Given the description of an element on the screen output the (x, y) to click on. 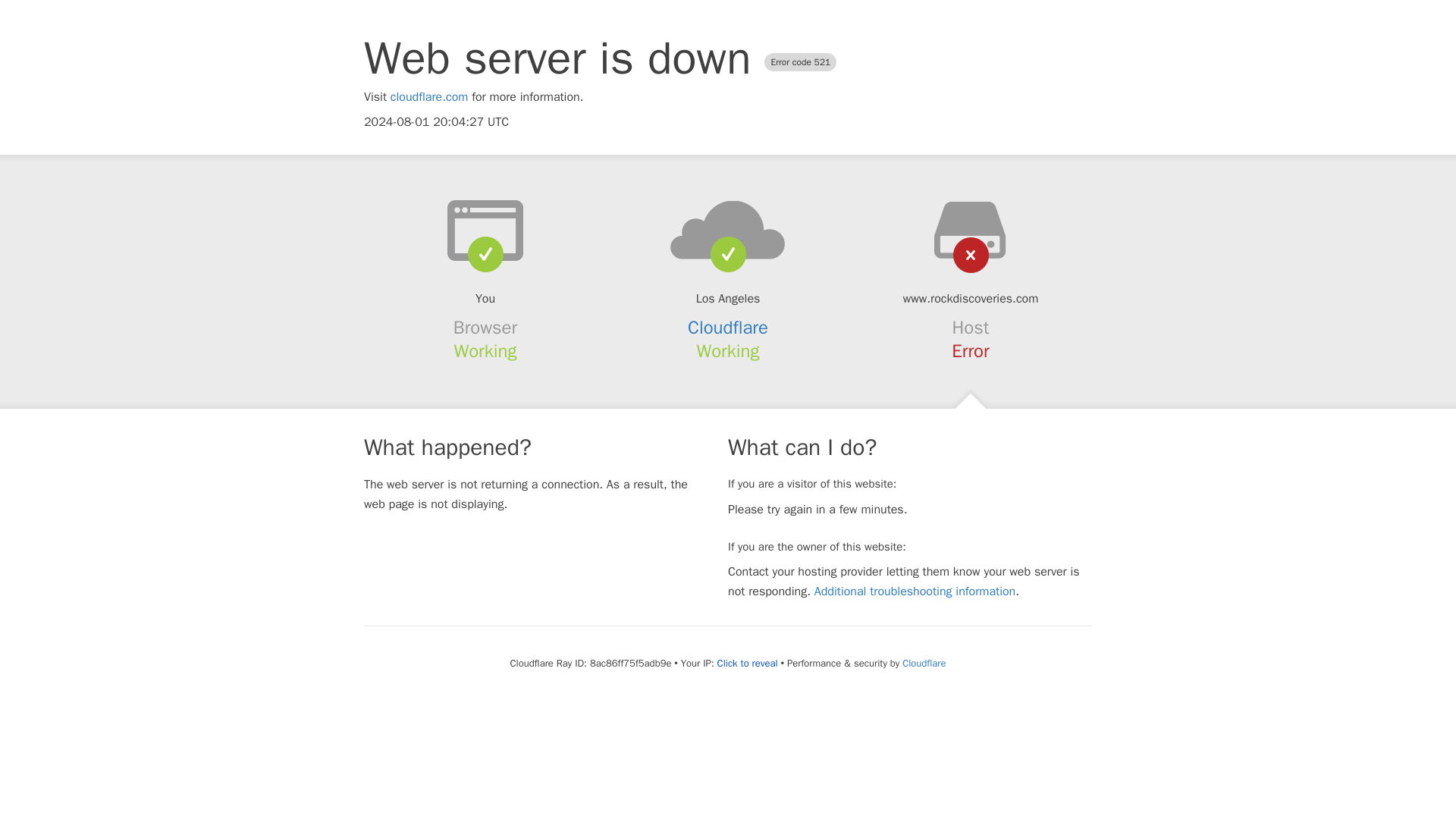
cloudflare.com (429, 96)
Additional troubleshooting information (913, 590)
Cloudflare (923, 662)
Click to reveal (747, 663)
Cloudflare (727, 327)
